Given the description of an element on the screen output the (x, y) to click on. 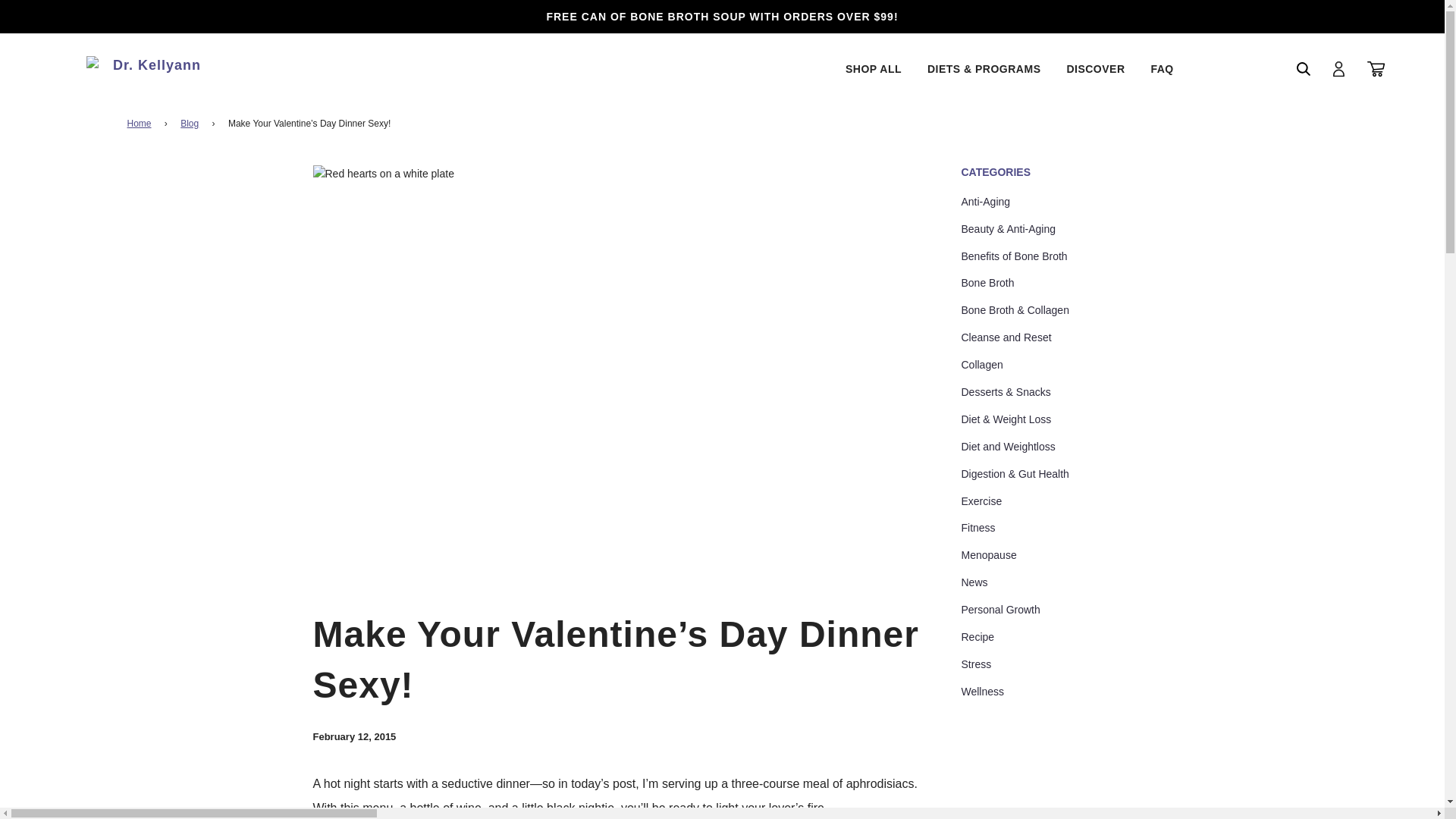
Show articles tagged Diet and Weightloss (1007, 446)
Log in (1338, 68)
Show articles tagged Benefits of Bone Broth (1013, 256)
Show articles tagged Fitness (977, 527)
Show articles tagged Bone Broth (987, 282)
Show articles tagged Anti-Aging (985, 201)
Show articles tagged Exercise (981, 500)
Back to the frontpage (142, 124)
Show articles tagged Cleanse and Reset (1005, 337)
Show articles tagged Collagen (981, 364)
